Given the description of an element on the screen output the (x, y) to click on. 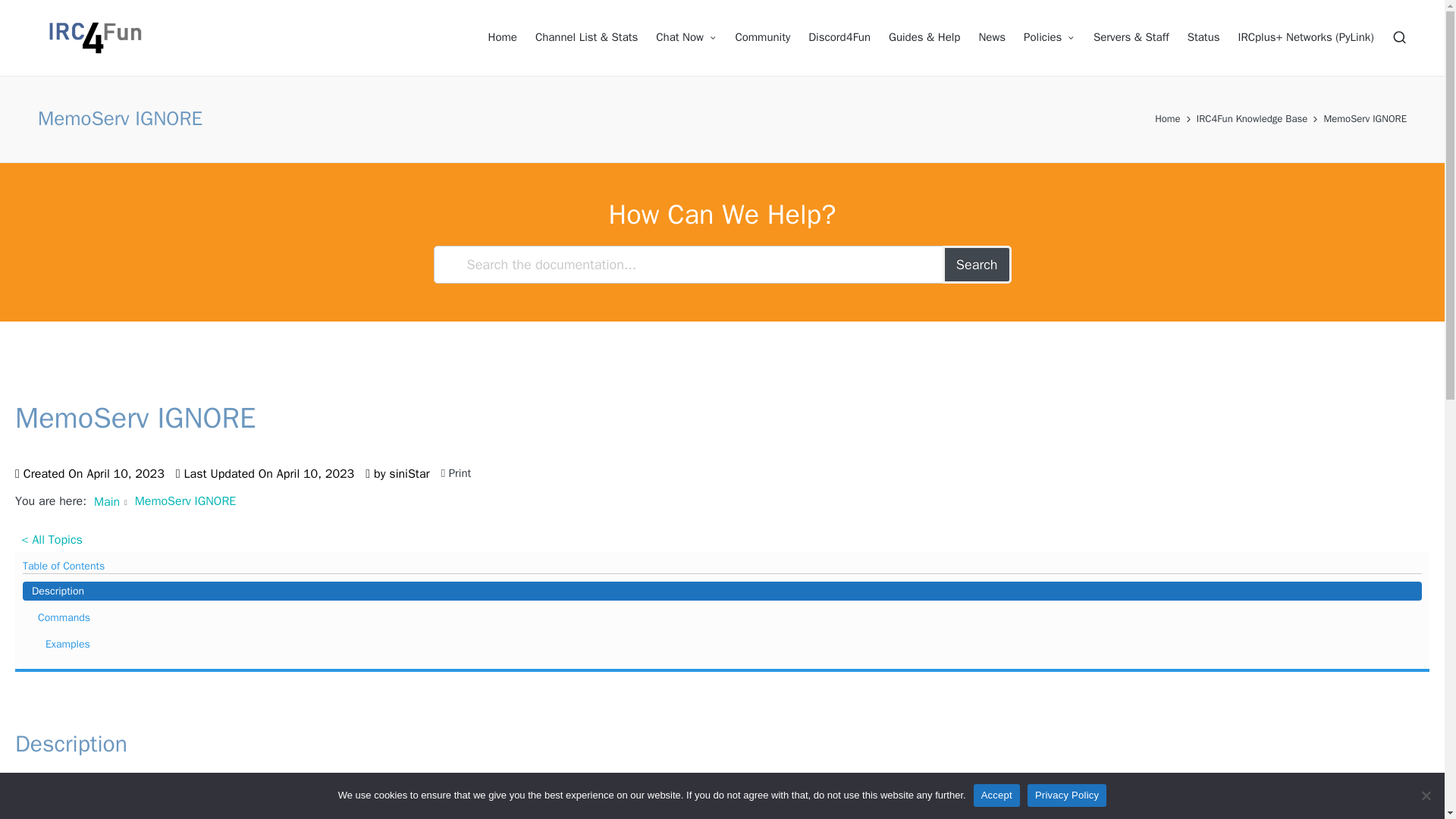
Home (1167, 118)
Main (106, 501)
Policies (1049, 37)
Home (501, 37)
Commands (722, 617)
News (992, 37)
Status (1204, 37)
No (1425, 795)
Community (762, 37)
Examples (722, 643)
IRC4Fun Knowledge Base (1251, 118)
Description (722, 590)
Chat Now (686, 37)
Discord4Fun (839, 37)
Search (976, 264)
